Given the description of an element on the screen output the (x, y) to click on. 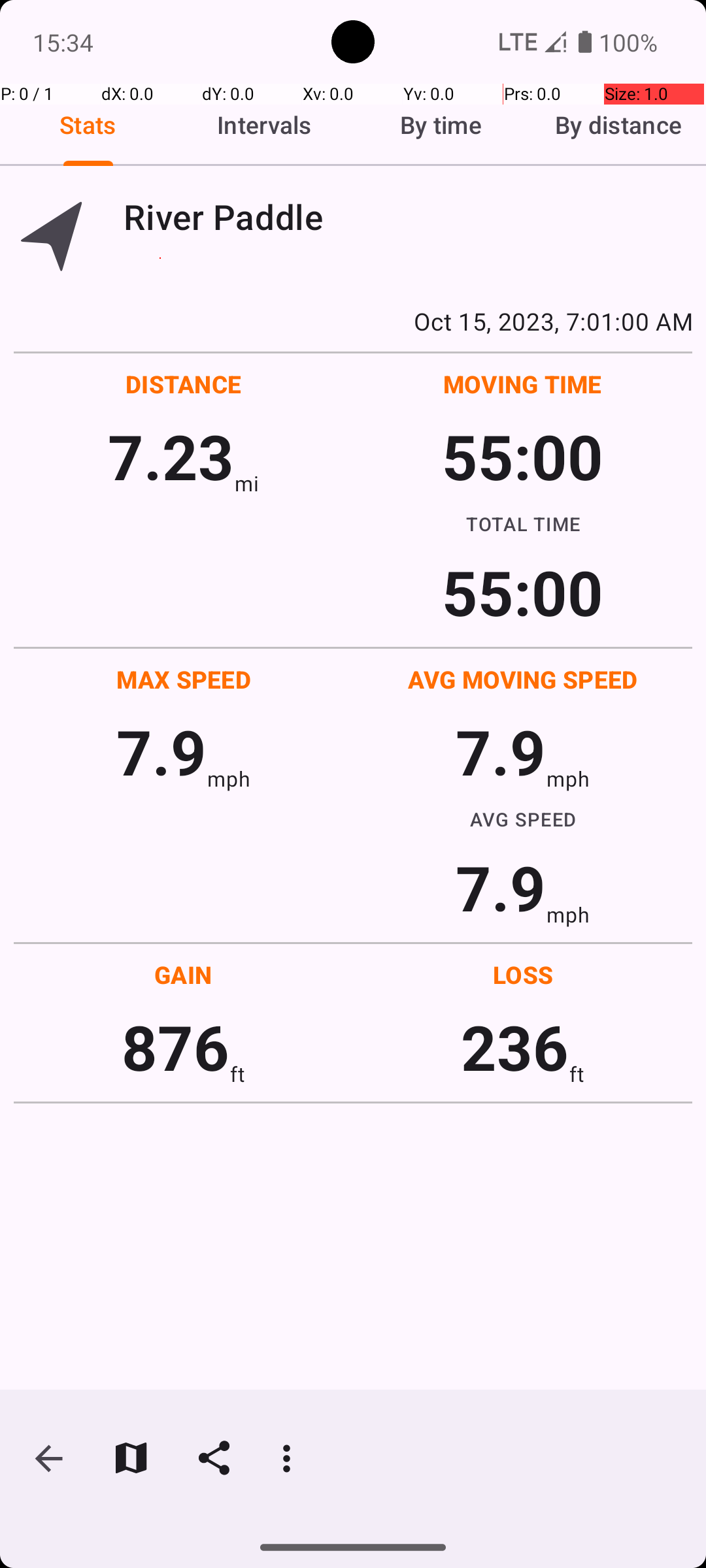
River Paddle Element type: android.widget.TextView (407, 216)
Oct 15, 2023, 7:01:00 AM Element type: android.widget.TextView (352, 320)
7.23 Element type: android.widget.TextView (170, 455)
55:00 Element type: android.widget.TextView (522, 455)
7.9 Element type: android.widget.TextView (161, 750)
876 Element type: android.widget.TextView (175, 1045)
236 Element type: android.widget.TextView (514, 1045)
